Given the description of an element on the screen output the (x, y) to click on. 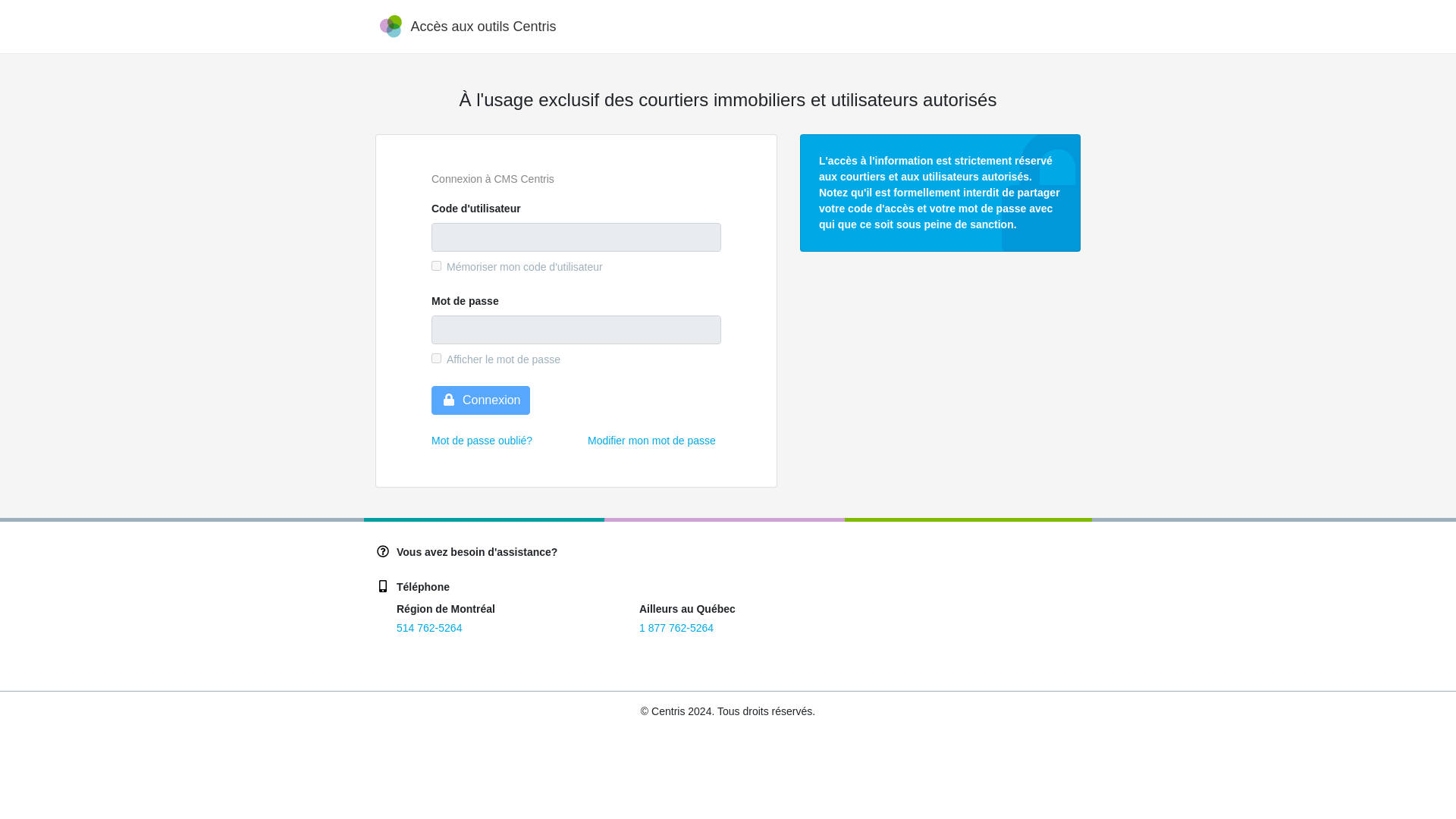
on (435, 357)
1 877 762-5264 (676, 627)
true (435, 266)
Modifier mon mot de passe (652, 440)
Connexion (480, 399)
514 762-5264 (428, 627)
